Given the description of an element on the screen output the (x, y) to click on. 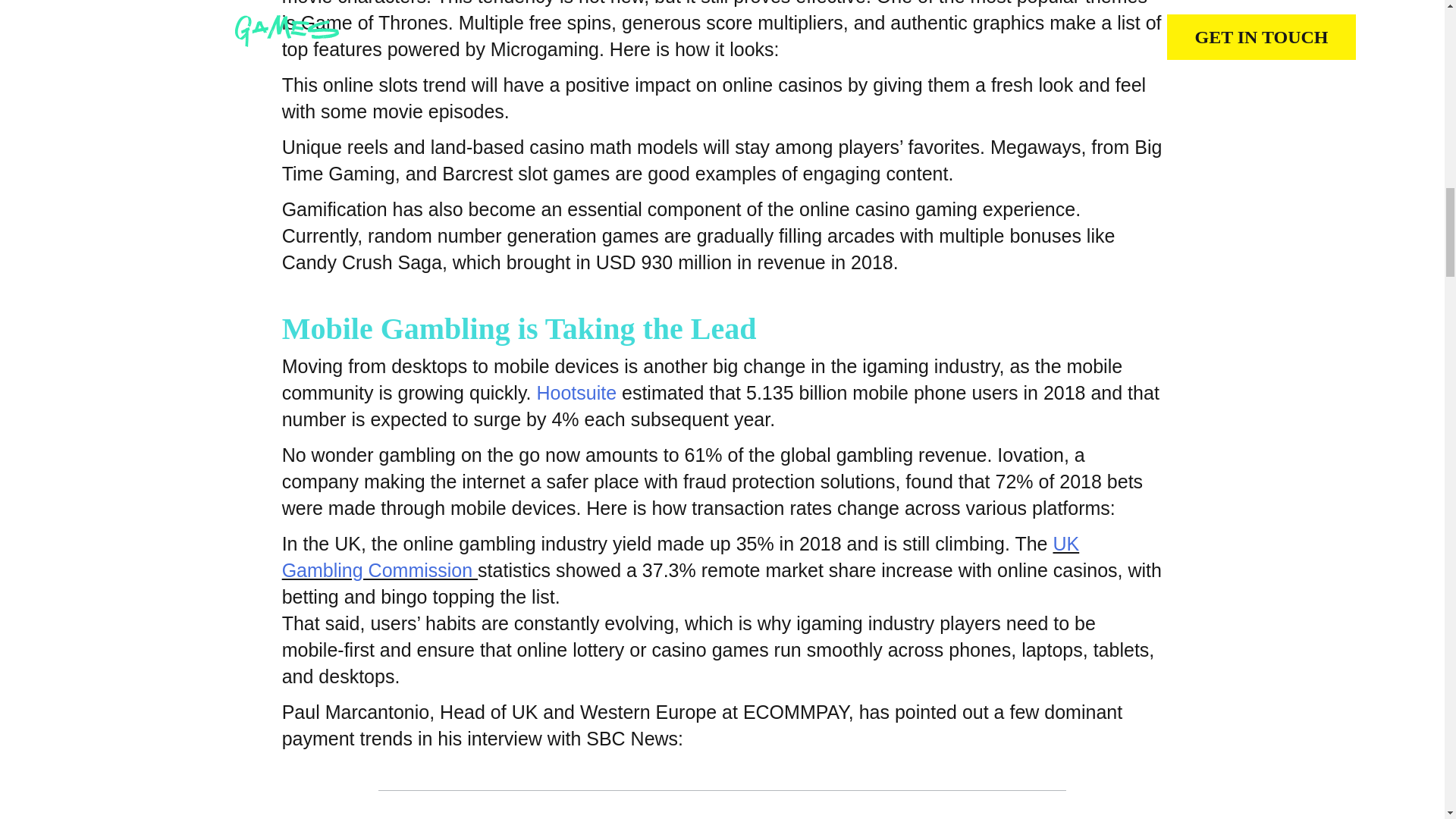
Hootsuite (575, 392)
UK Gambling Commission (681, 556)
